Given the description of an element on the screen output the (x, y) to click on. 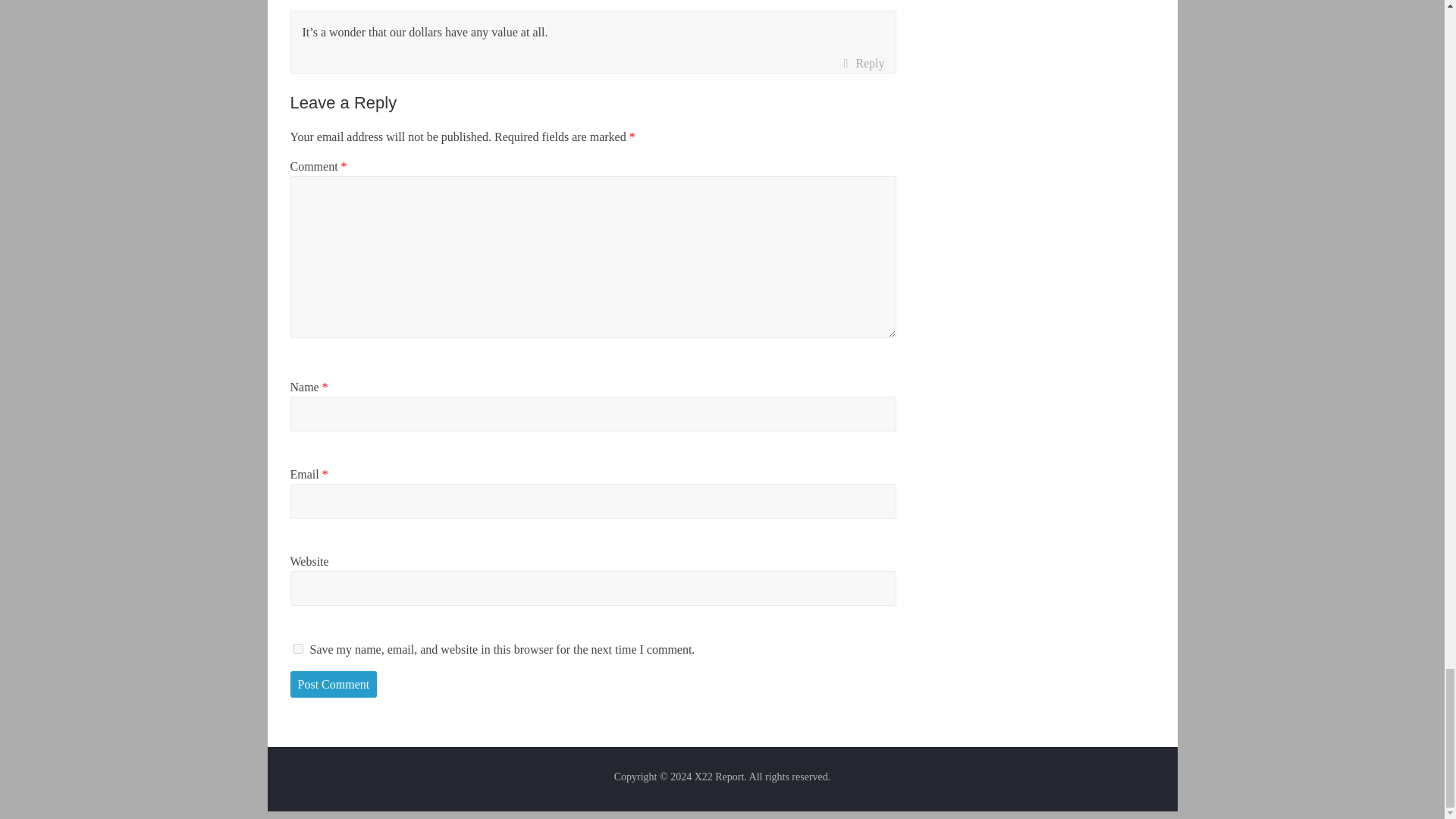
Post Comment (333, 684)
yes (297, 648)
